Given the description of an element on the screen output the (x, y) to click on. 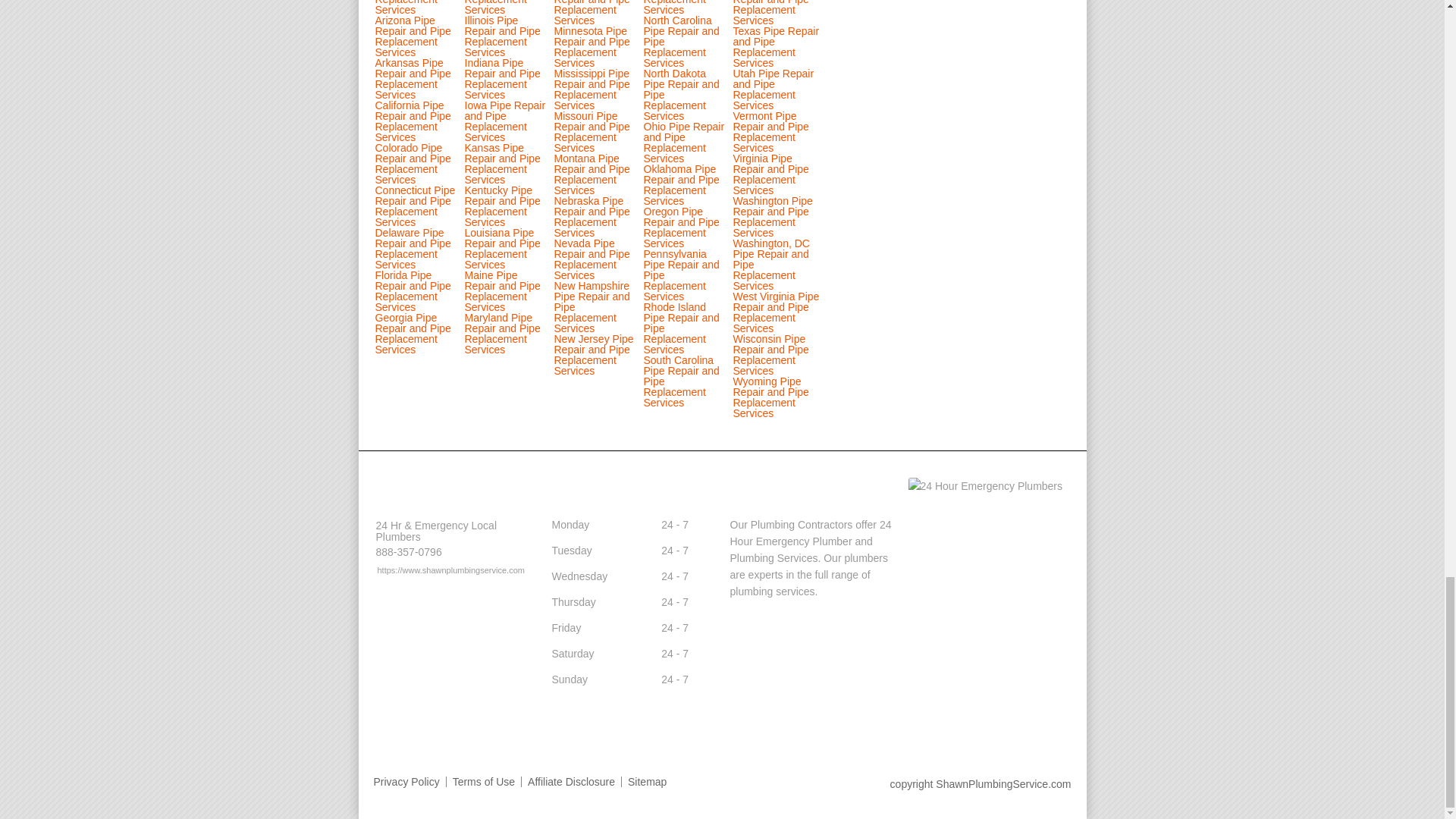
New Hampshire Pipe Repair and Pipe Replacement Services (590, 307)
Kansas Pipe Repair and Pipe Replacement Services (502, 163)
Indiana Pipe Repair and Pipe Replacement Services (502, 78)
Illinois Pipe Repair and Pipe Replacement Services (502, 36)
Florida Pipe Repair and Pipe Replacement Services (411, 290)
Maryland Pipe Repair and Pipe Replacement Services (502, 333)
Idaho Pipe Repair and Pipe Replacement Services (506, 7)
Arizona Pipe Repair and Pipe Replacement Services (411, 36)
Michigan Pipe Repair and Pipe Replacement Services (590, 13)
California Pipe Repair and Pipe Replacement Services (411, 121)
